Given the description of an element on the screen output the (x, y) to click on. 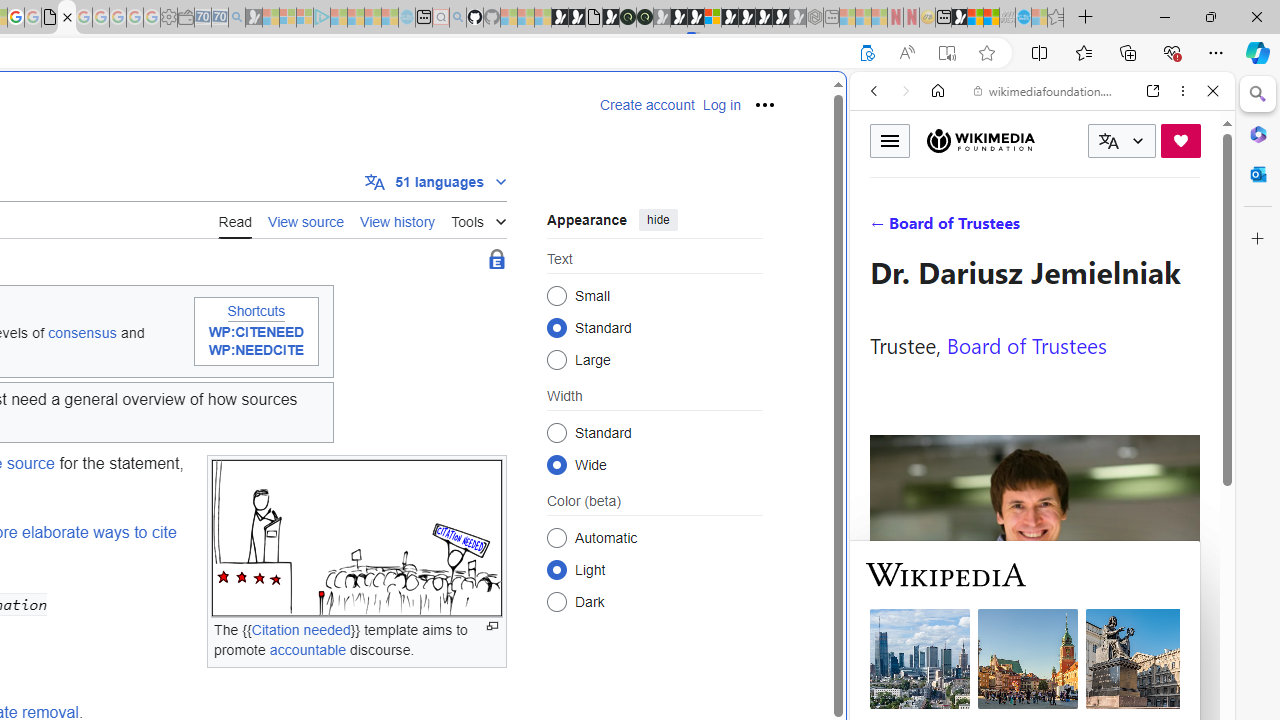
accountable (307, 649)
Standard (556, 431)
WP:NEEDCITE (255, 350)
Light (556, 569)
